Given the description of an element on the screen output the (x, y) to click on. 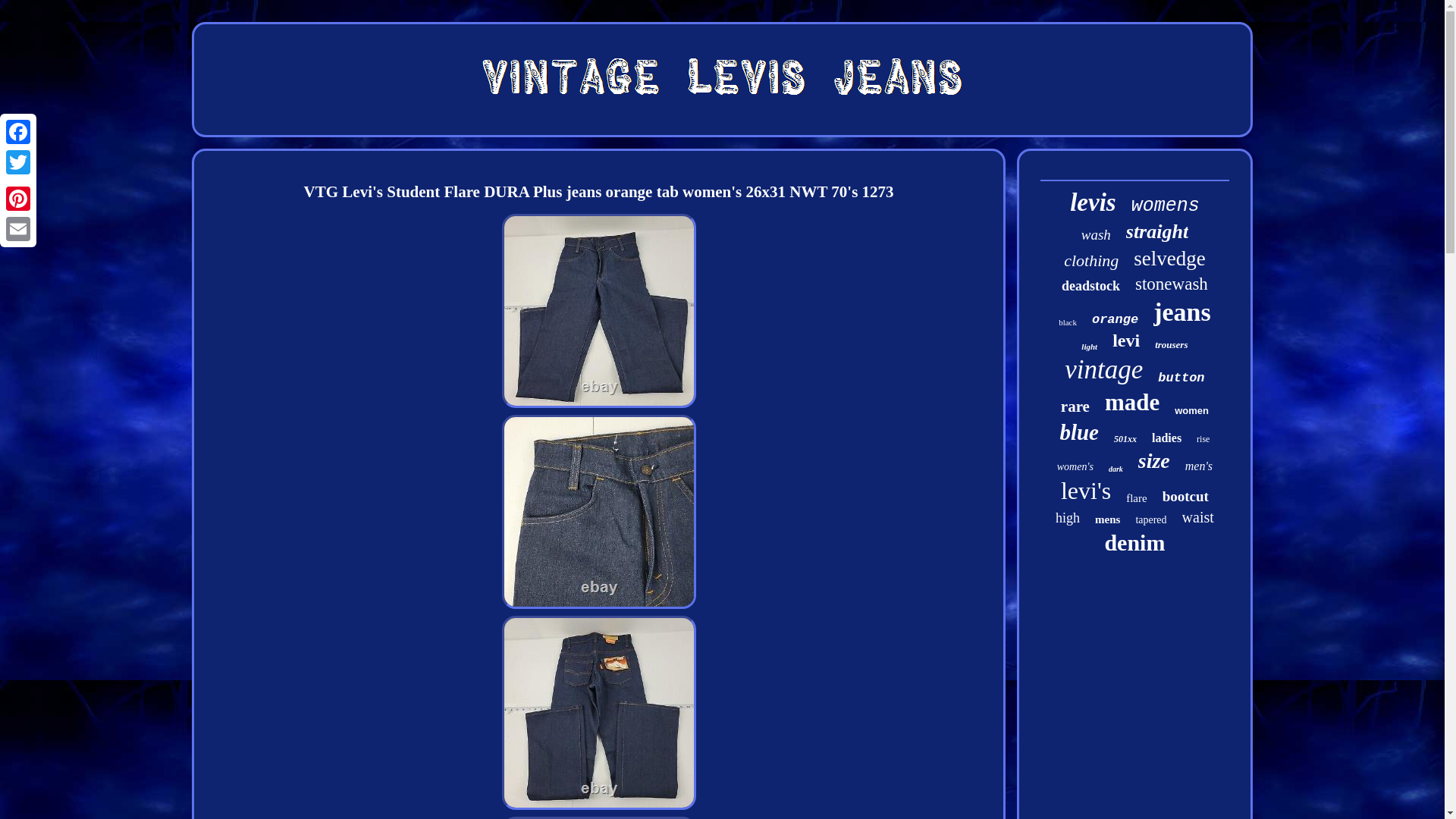
clothing (1091, 260)
vintage (1103, 369)
501xx (1125, 439)
women (1191, 410)
light (1089, 346)
size (1154, 460)
levis (1092, 203)
Email (17, 228)
deadstock (1090, 286)
stonewash (1171, 284)
orange (1115, 319)
black (1067, 321)
wash (1095, 234)
